Given the description of an element on the screen output the (x, y) to click on. 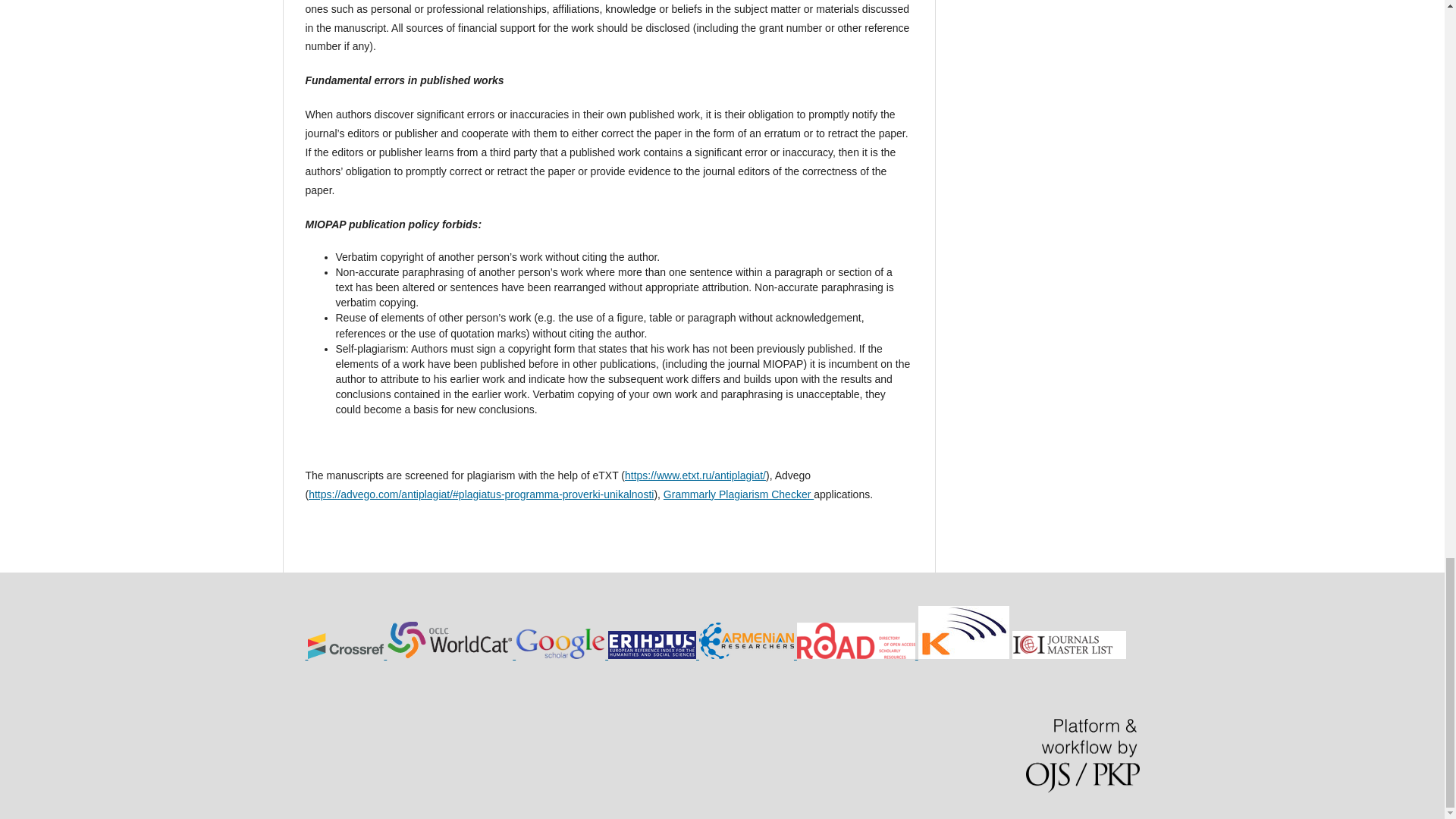
Grammarly Plagiarism Checker (738, 494)
Crossref (347, 654)
BOK (747, 654)
ICI Journals Master (1068, 654)
erihplus (653, 654)
Google Scholar (561, 654)
WorldCat (451, 654)
